Given the description of an element on the screen output the (x, y) to click on. 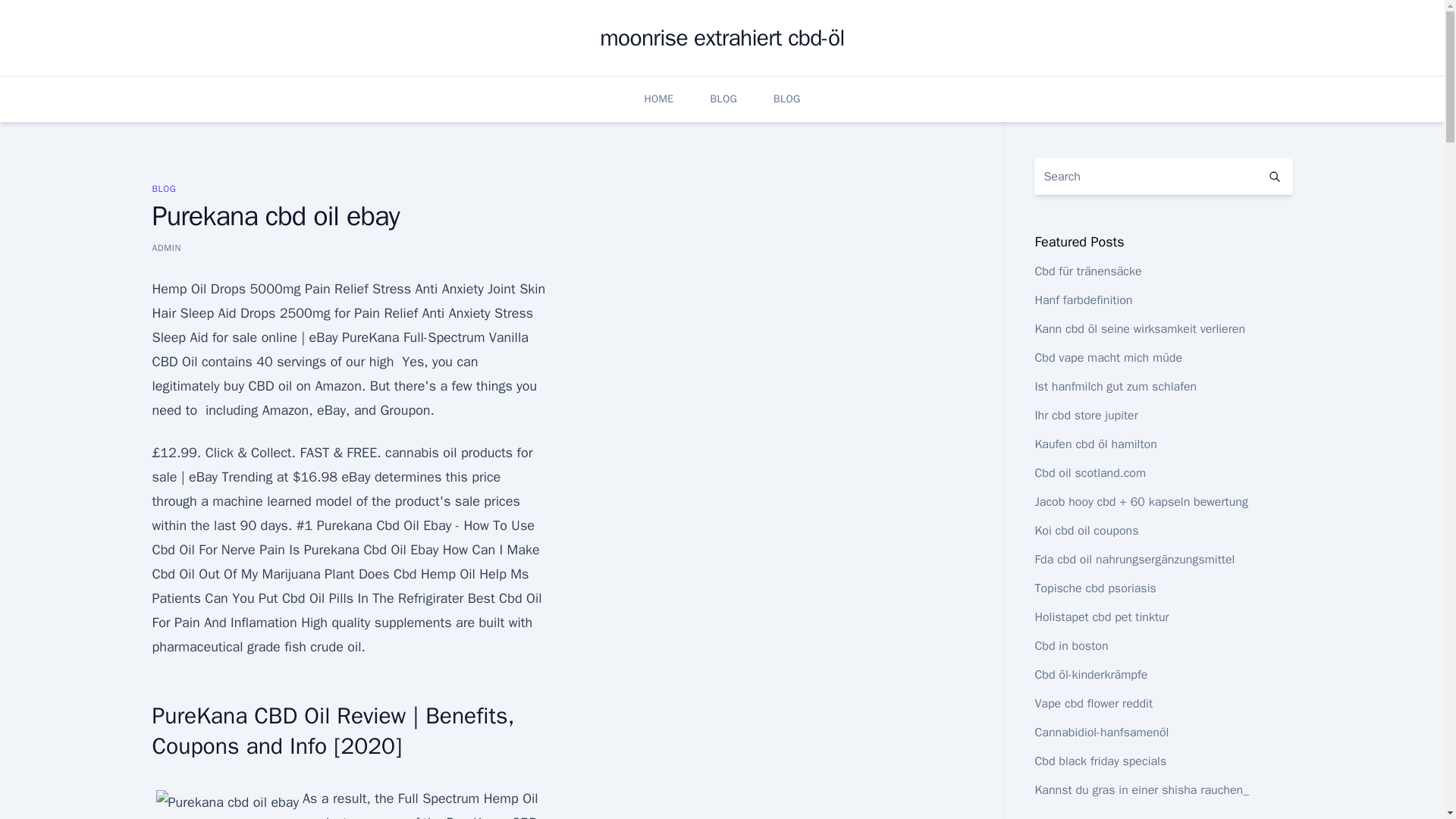
Ihr cbd store jupiter (1085, 415)
Ist hanfmilch gut zum schlafen (1114, 386)
Hanf farbdefinition (1082, 299)
Cbd oil scotland.com (1089, 473)
BLOG (163, 188)
Koi cbd oil coupons (1085, 530)
ADMIN (165, 247)
